Given the description of an element on the screen output the (x, y) to click on. 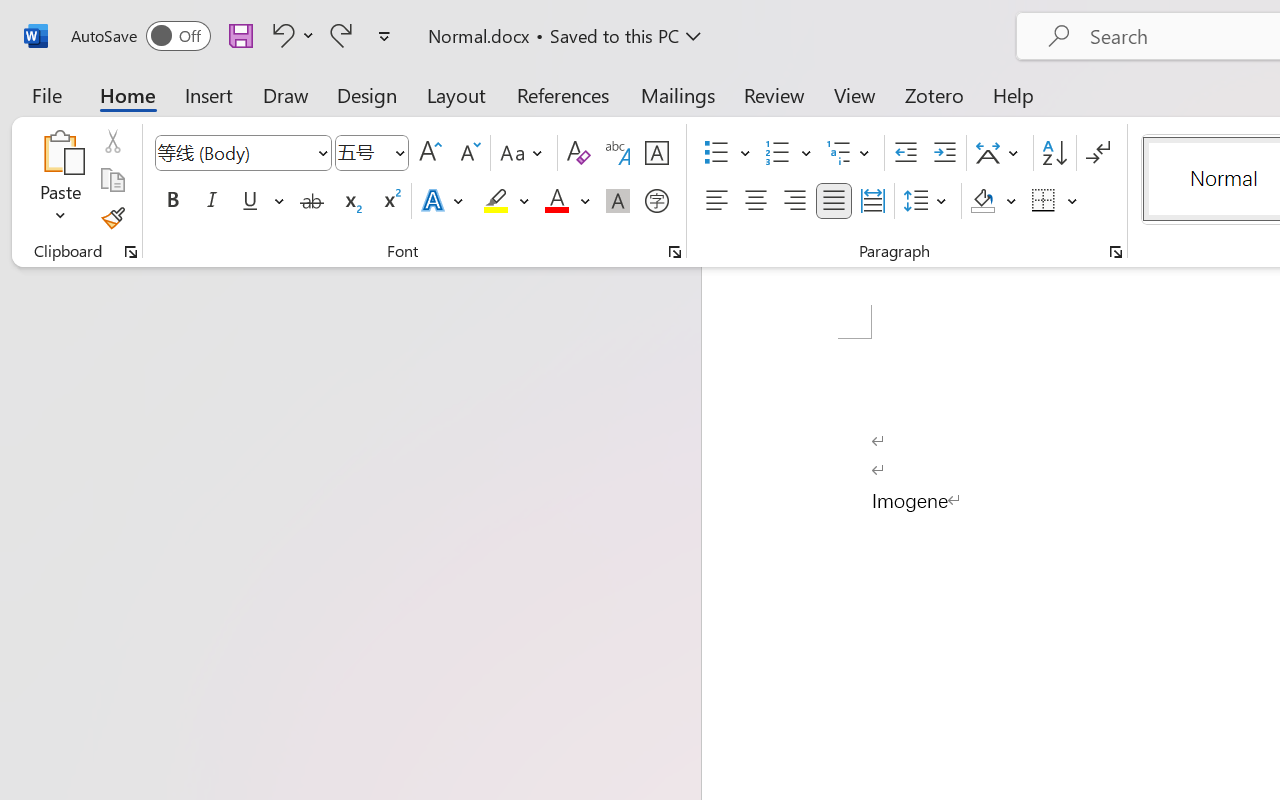
Help (1013, 94)
Cut (112, 141)
Format Painter (112, 218)
Subscript (350, 201)
Shrink Font (468, 153)
Text Effects and Typography (444, 201)
Decrease Indent (906, 153)
Asian Layout (1000, 153)
